Given the description of an element on the screen output the (x, y) to click on. 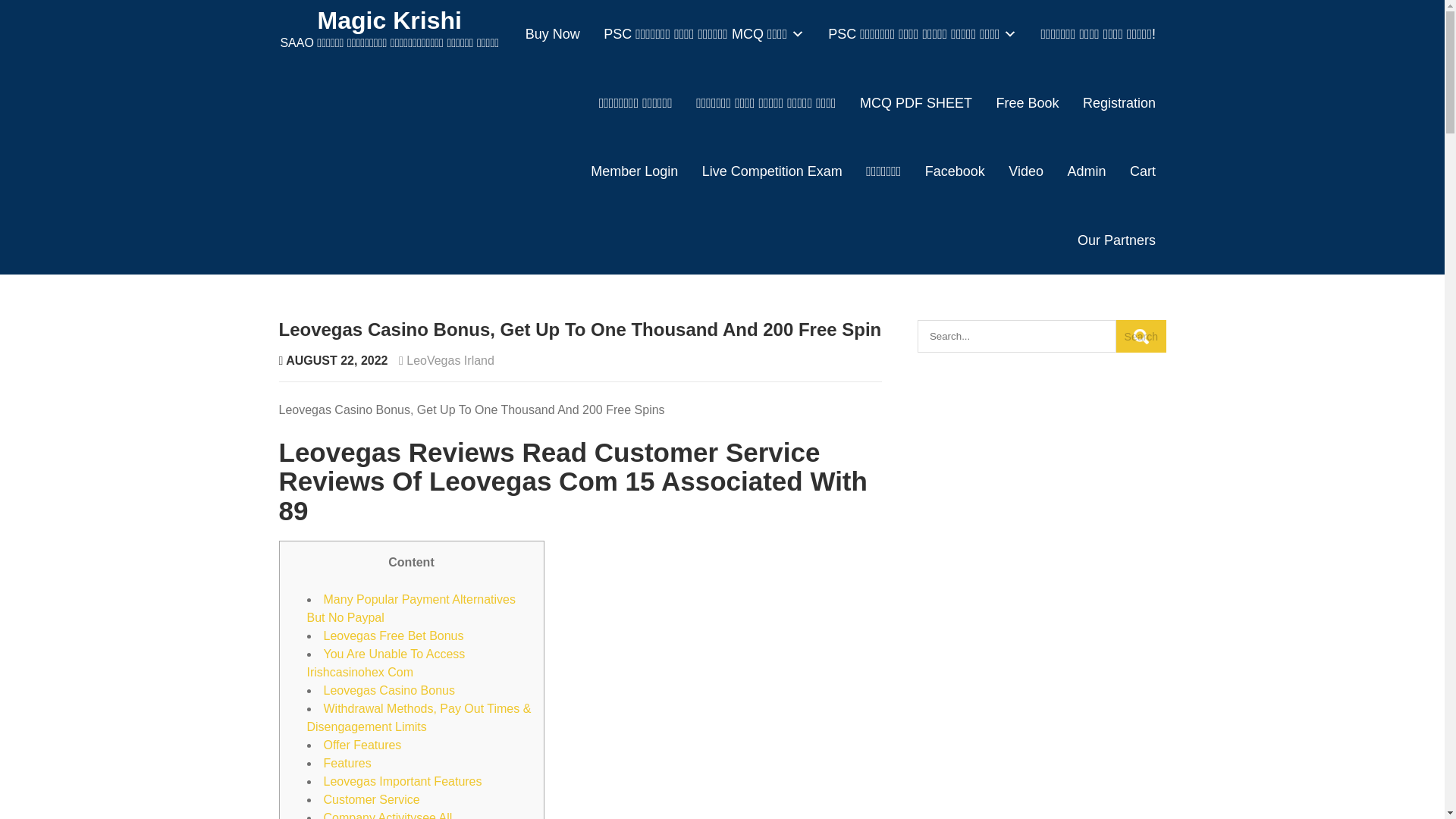
Buy Now (552, 34)
Magic Krishi (389, 20)
Search (1141, 336)
Search (1141, 336)
